Given the description of an element on the screen output the (x, y) to click on. 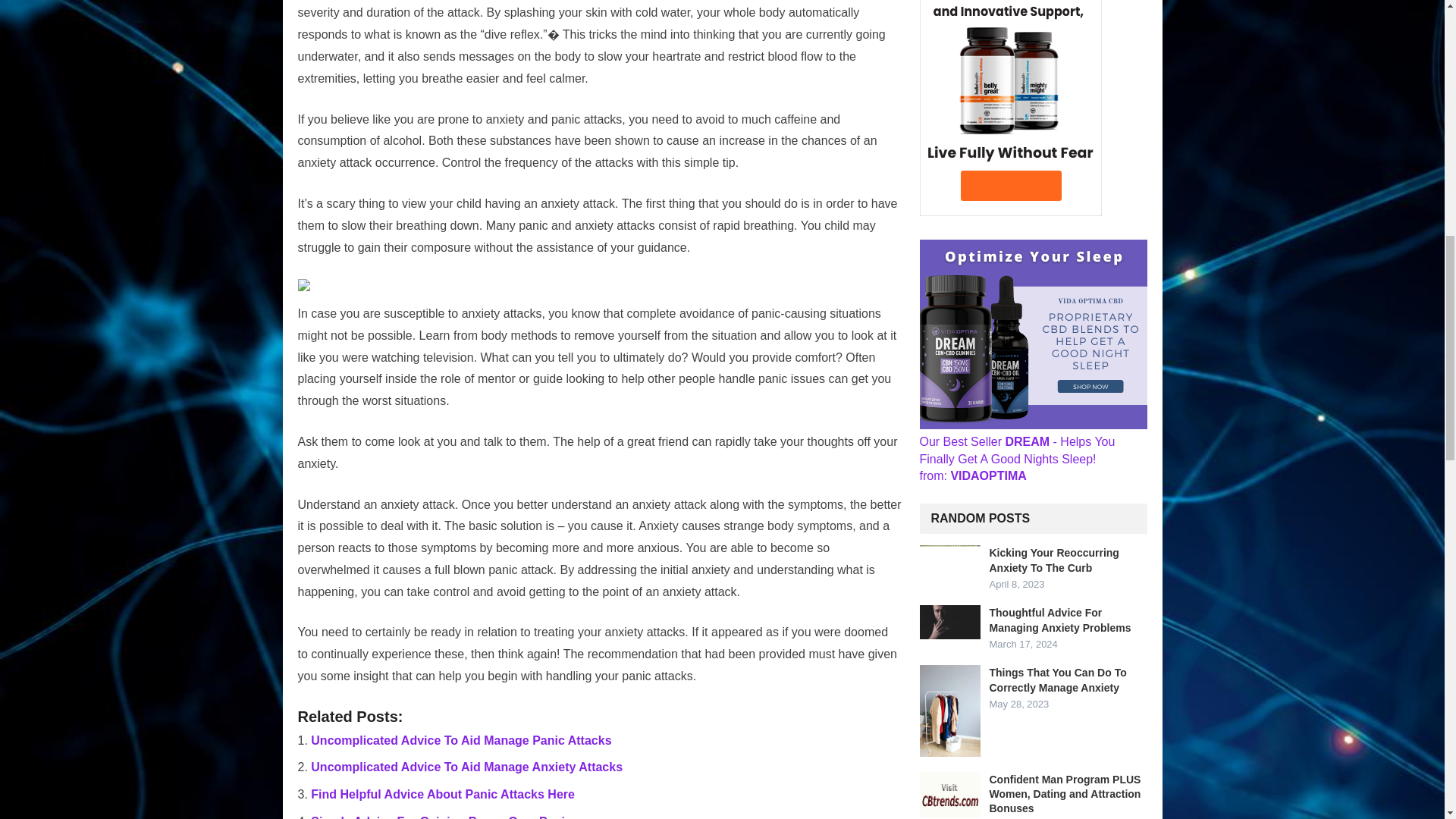
Uncomplicated Advice To Aid Manage Panic Attacks (461, 739)
Uncomplicated Advice To Aid Manage Anxiety Attacks (467, 766)
Find Helpful Advice About Panic Attacks Here (443, 793)
Uncomplicated Advice To Aid Manage Panic Attacks (461, 739)
Simple Advice For Gaining Power Over Panic (441, 816)
Find Helpful Advice About Panic Attacks Here (443, 793)
Uncomplicated Advice To Aid Manage Anxiety Attacks (467, 766)
Simple Advice For Gaining Power Over Panic (441, 816)
